Given the description of an element on the screen output the (x, y) to click on. 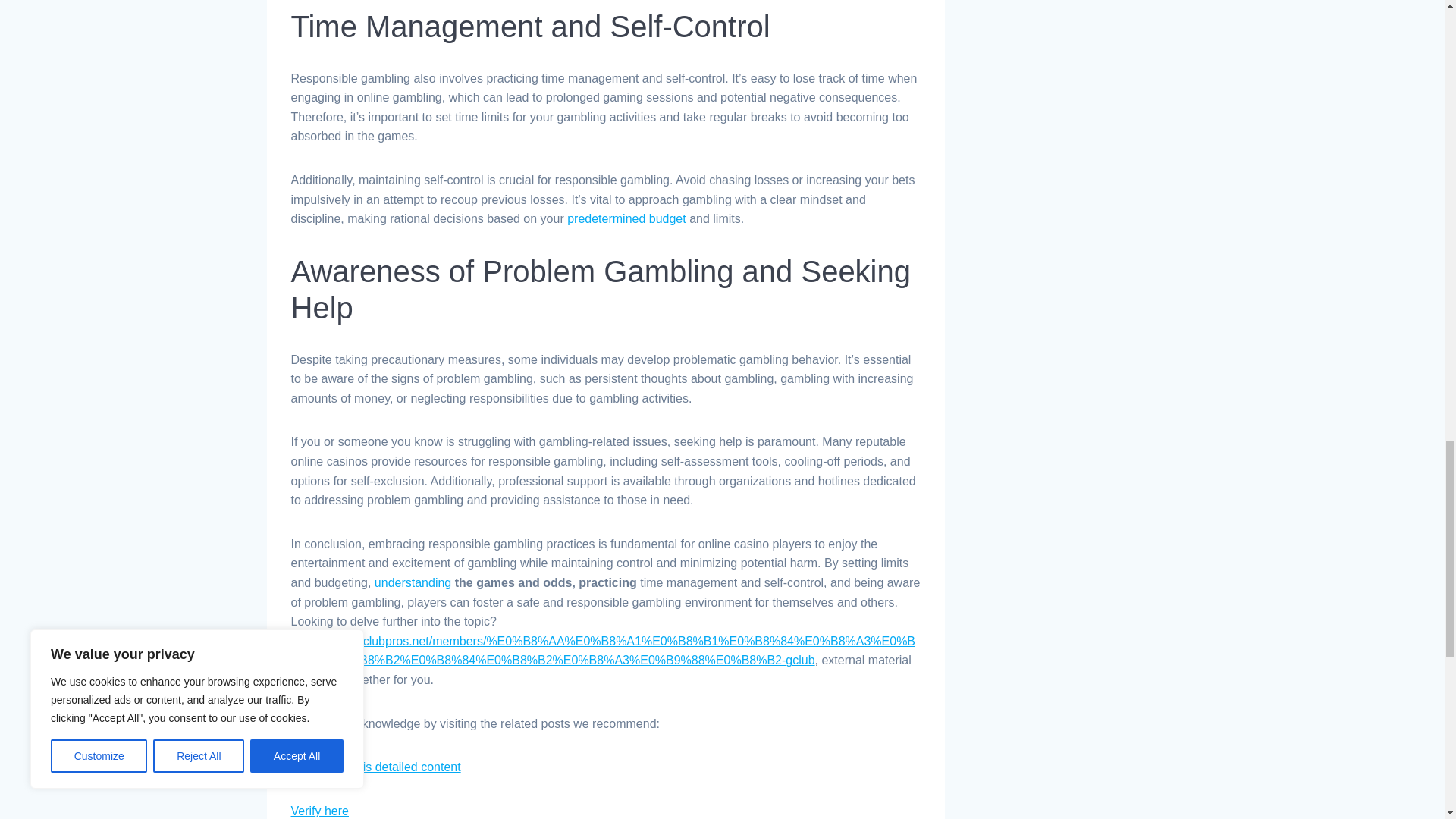
understanding (412, 582)
Learn from this detailed content (376, 766)
predetermined budget (626, 218)
Verify here (320, 810)
